Given the description of an element on the screen output the (x, y) to click on. 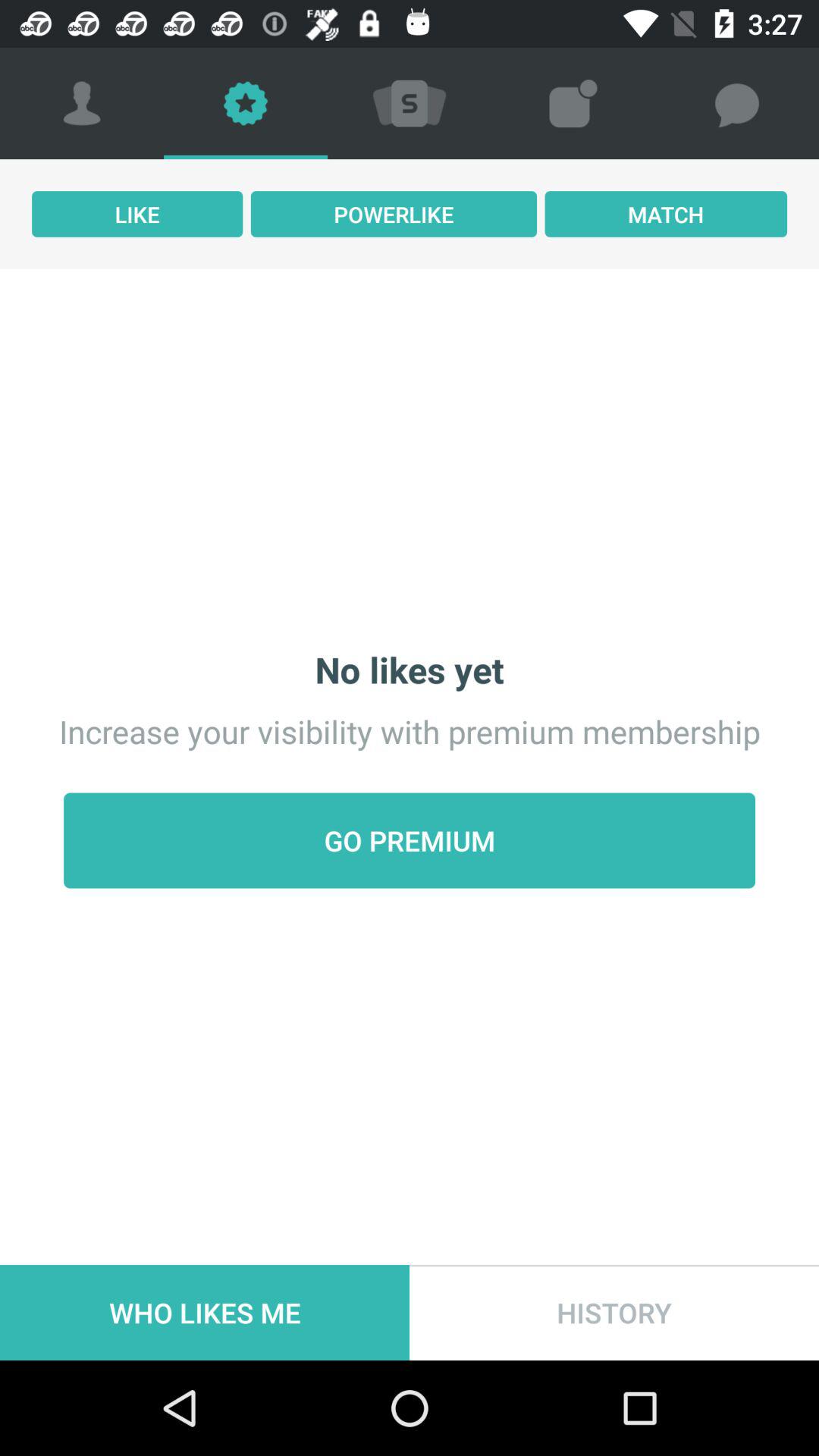
turn off item below go premium item (614, 1312)
